Given the description of an element on the screen output the (x, y) to click on. 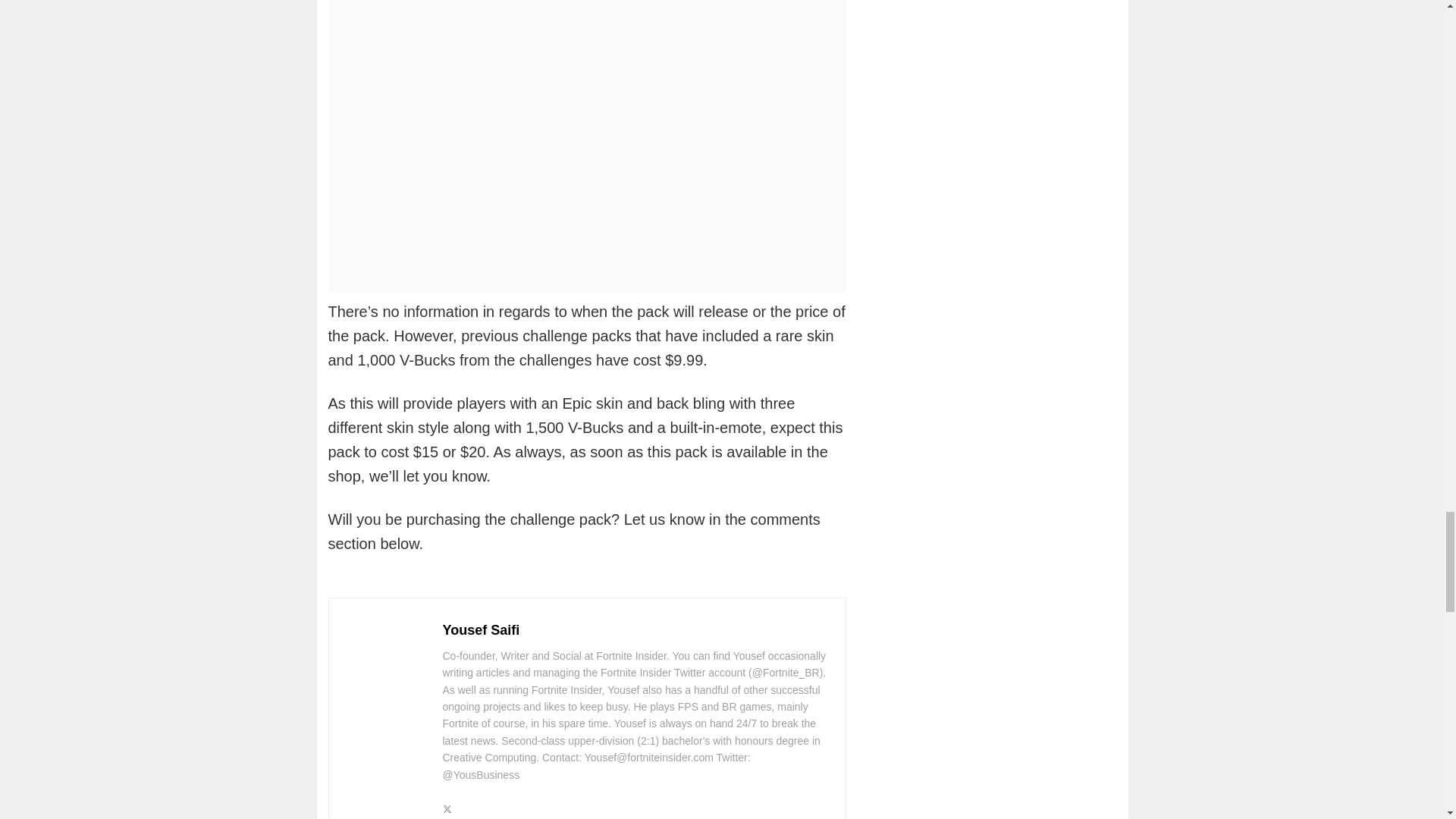
Yousef Saifi (480, 630)
